Given the description of an element on the screen output the (x, y) to click on. 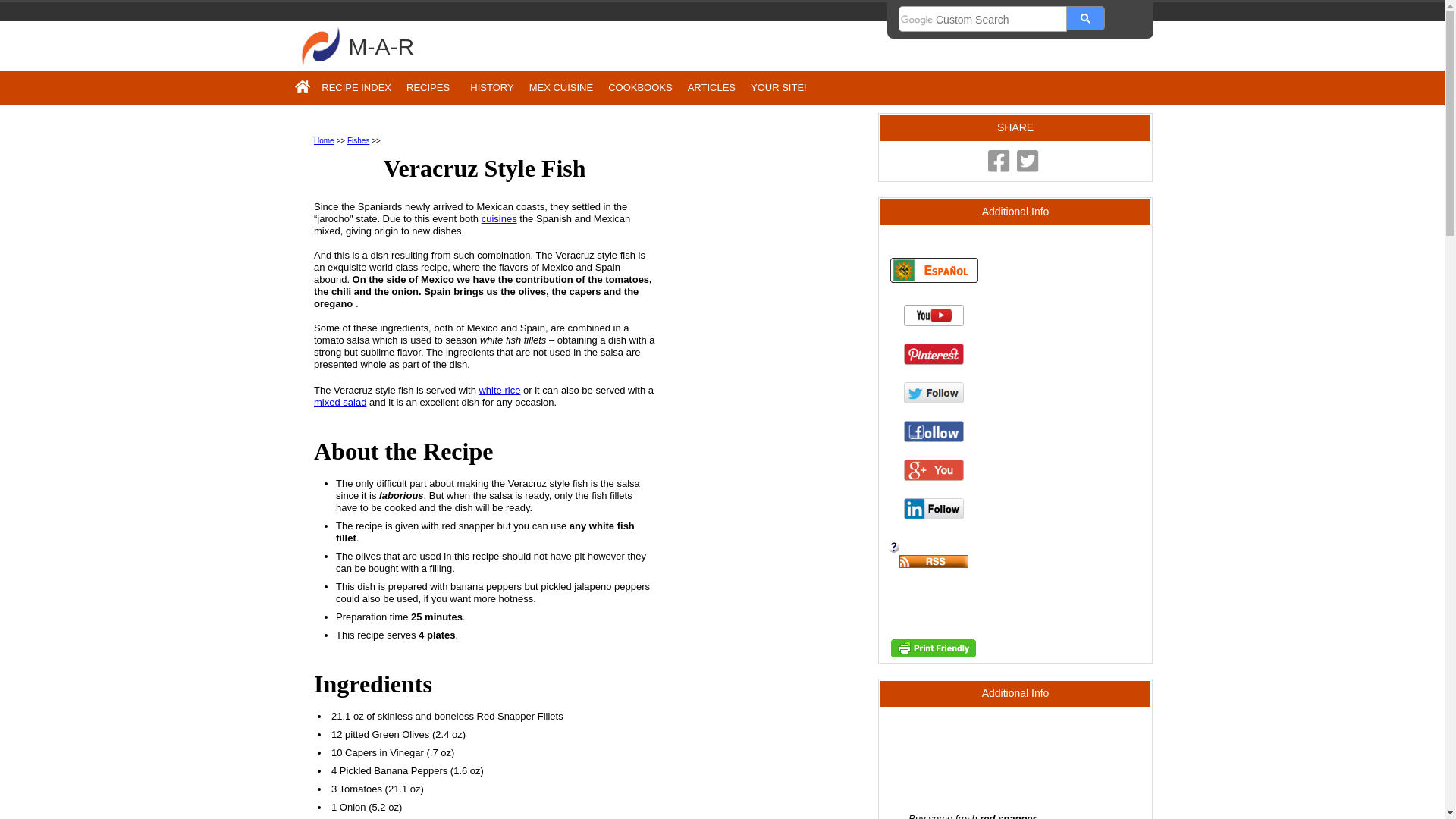
search (1086, 17)
HISTORY (492, 87)
RECIPES   (430, 87)
MEX CUISINE (561, 87)
Printer Friendly and PDF (933, 653)
RECIPE INDEX (356, 87)
Fishes (358, 140)
COOKBOOKS (639, 87)
Home (324, 140)
ARTICLES (710, 87)
search (982, 19)
YOUR SITE! (777, 87)
M-A-R (381, 45)
white rice (499, 389)
mixed salad (340, 401)
